Given the description of an element on the screen output the (x, y) to click on. 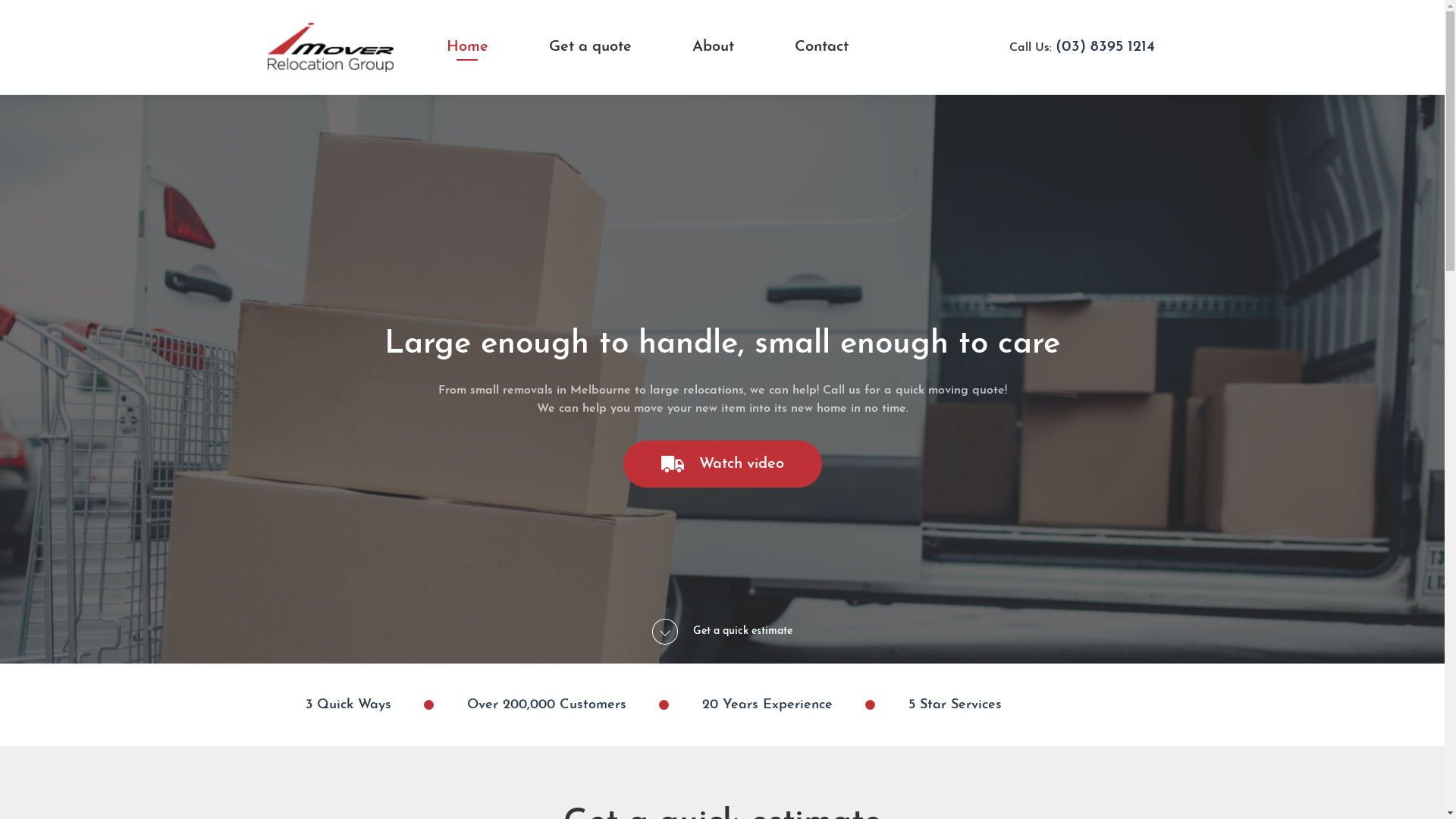
Contact Element type: text (821, 46)
(03) 8395 1214 Element type: text (1104, 46)
Get a quote Element type: text (590, 46)
About Element type: text (712, 46)
Home Element type: text (466, 46)
Watch video Element type: text (722, 463)
Get a quick estimate Element type: text (722, 631)
